Given the description of an element on the screen output the (x, y) to click on. 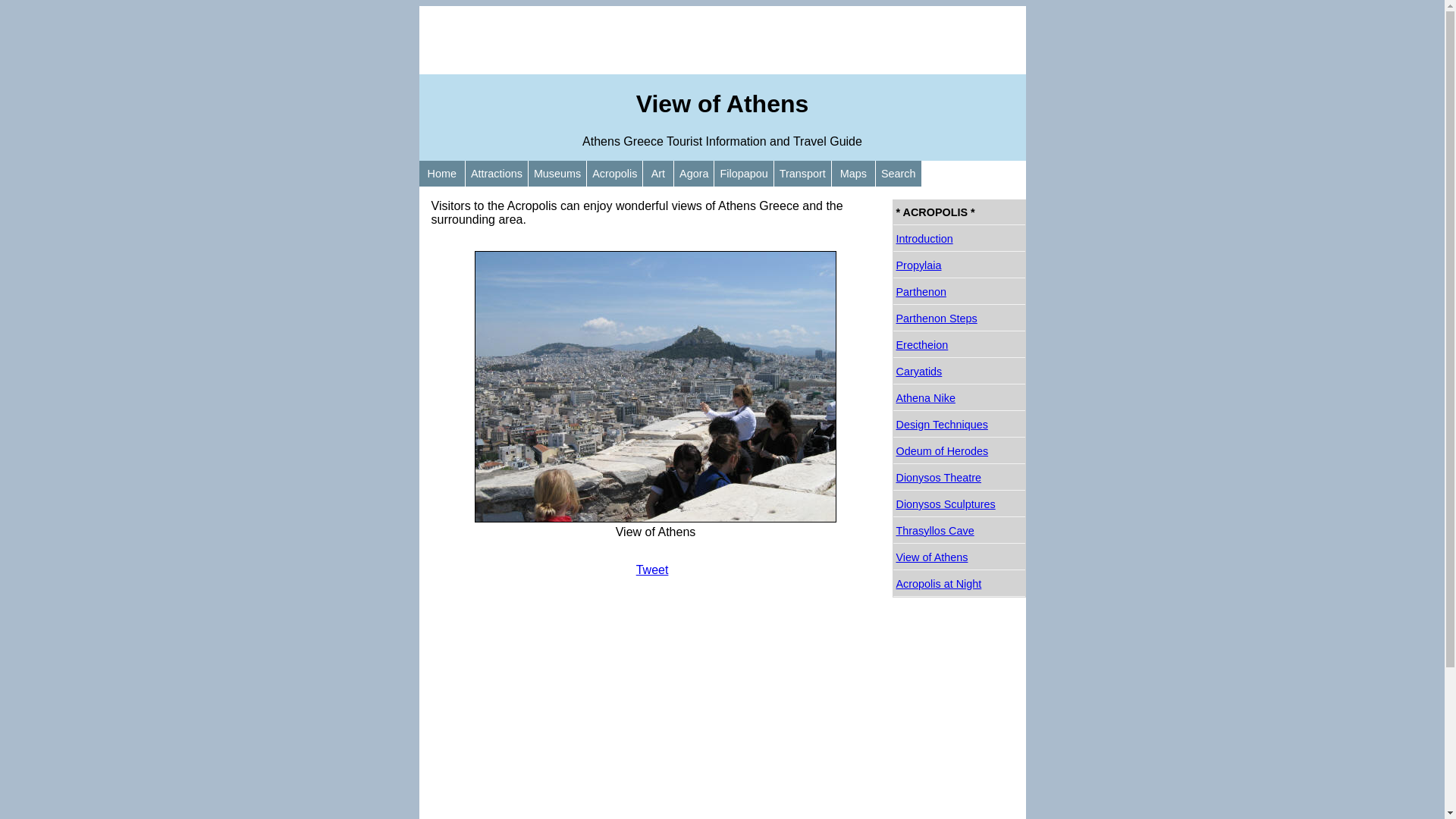
Propylaia Element type: text (959, 265)
Acropolis Element type: text (614, 173)
Advertisement Element type: hover (721, 40)
Introduction Element type: text (959, 238)
Dionysos Sculptures Element type: text (959, 504)
Search Element type: text (898, 173)
 Art  Element type: text (658, 173)
Filopapou Element type: text (743, 173)
Acropolis at Night Element type: text (959, 583)
Caryatids Element type: text (959, 371)
View of Athens Element type: text (959, 557)
Parthenon Element type: text (959, 291)
 Maps  Element type: text (853, 173)
Museums Element type: text (557, 173)
Transport Element type: text (802, 173)
Erectheion Element type: text (959, 344)
Tweet Element type: text (652, 569)
Design Techniques Element type: text (959, 424)
Parthenon Steps Element type: text (959, 318)
Agora Element type: text (693, 173)
Dionysos Theatre Element type: text (959, 477)
Athena Nike Element type: text (959, 398)
Odeum of Herodes Element type: text (959, 451)
* ACROPOLIS * Element type: text (959, 212)
Thrasyllos Cave Element type: text (959, 530)
Attractions Element type: text (496, 173)
 Home  Element type: text (441, 173)
Advertisement Element type: hover (654, 707)
